Given the description of an element on the screen output the (x, y) to click on. 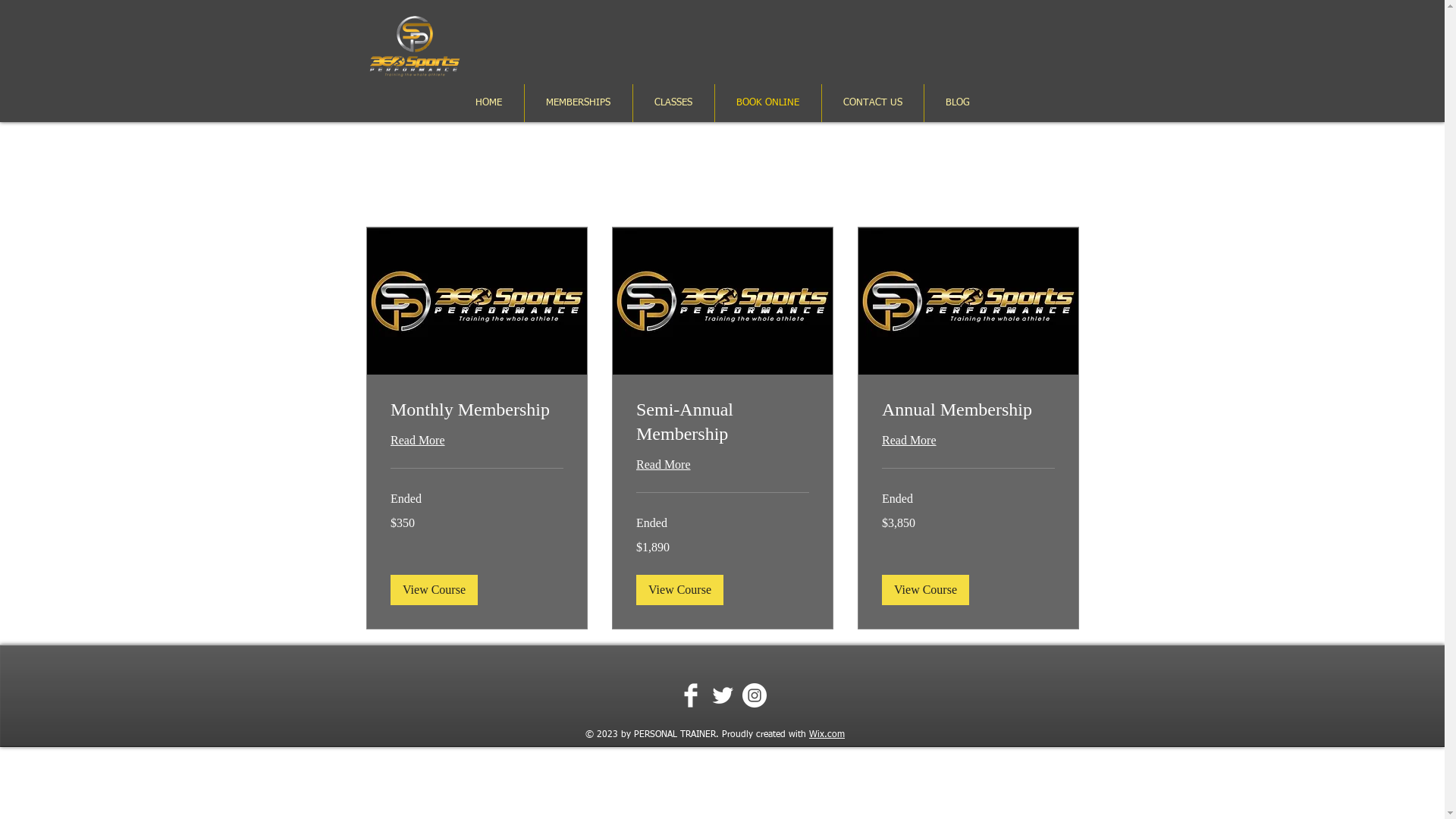
Read More Element type: text (662, 464)
Read More Element type: text (908, 440)
CLASSES Element type: text (672, 103)
Read More Element type: text (416, 440)
CONTACT US Element type: text (872, 103)
HOME Element type: text (488, 103)
MEMBERSHIPS Element type: text (578, 103)
Semi-Annual Membership Element type: text (721, 422)
BLOG Element type: text (956, 103)
View Course Element type: text (678, 589)
Annual Membership Element type: text (967, 410)
Monthly Membership Element type: text (475, 410)
BOOK ONLINE Element type: text (767, 103)
View Course Element type: text (432, 589)
Wix.com Element type: text (826, 734)
View Course Element type: text (924, 589)
